Given the description of an element on the screen output the (x, y) to click on. 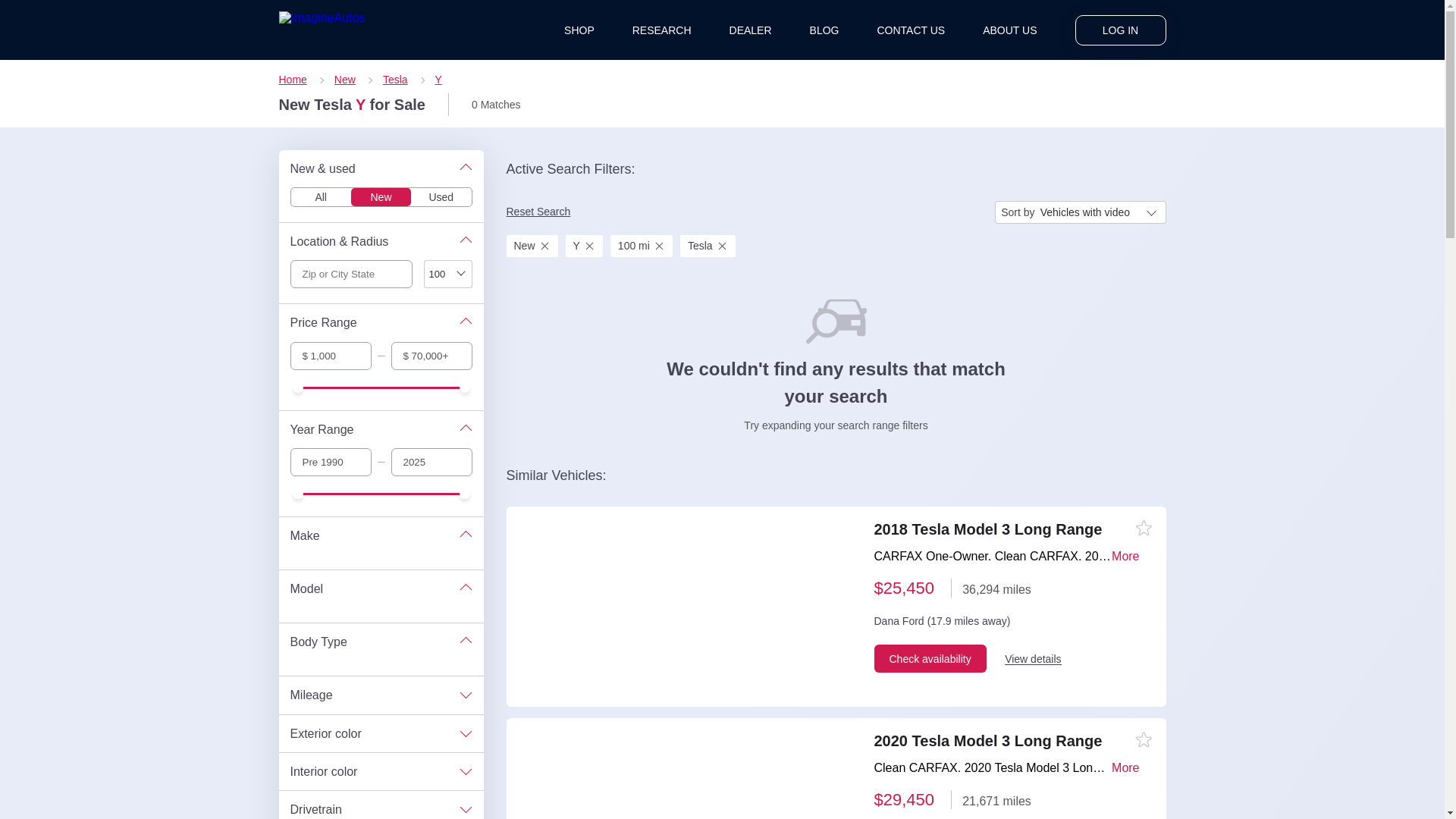
View details (1032, 668)
DEALER (750, 30)
Check availability (929, 671)
LOG IN (1120, 30)
SHOP (579, 30)
2025 (431, 461)
2020 Tesla Model 3 Long Range (1013, 746)
CONTACT US (910, 30)
Tesla (402, 79)
New (352, 79)
